Given the description of an element on the screen output the (x, y) to click on. 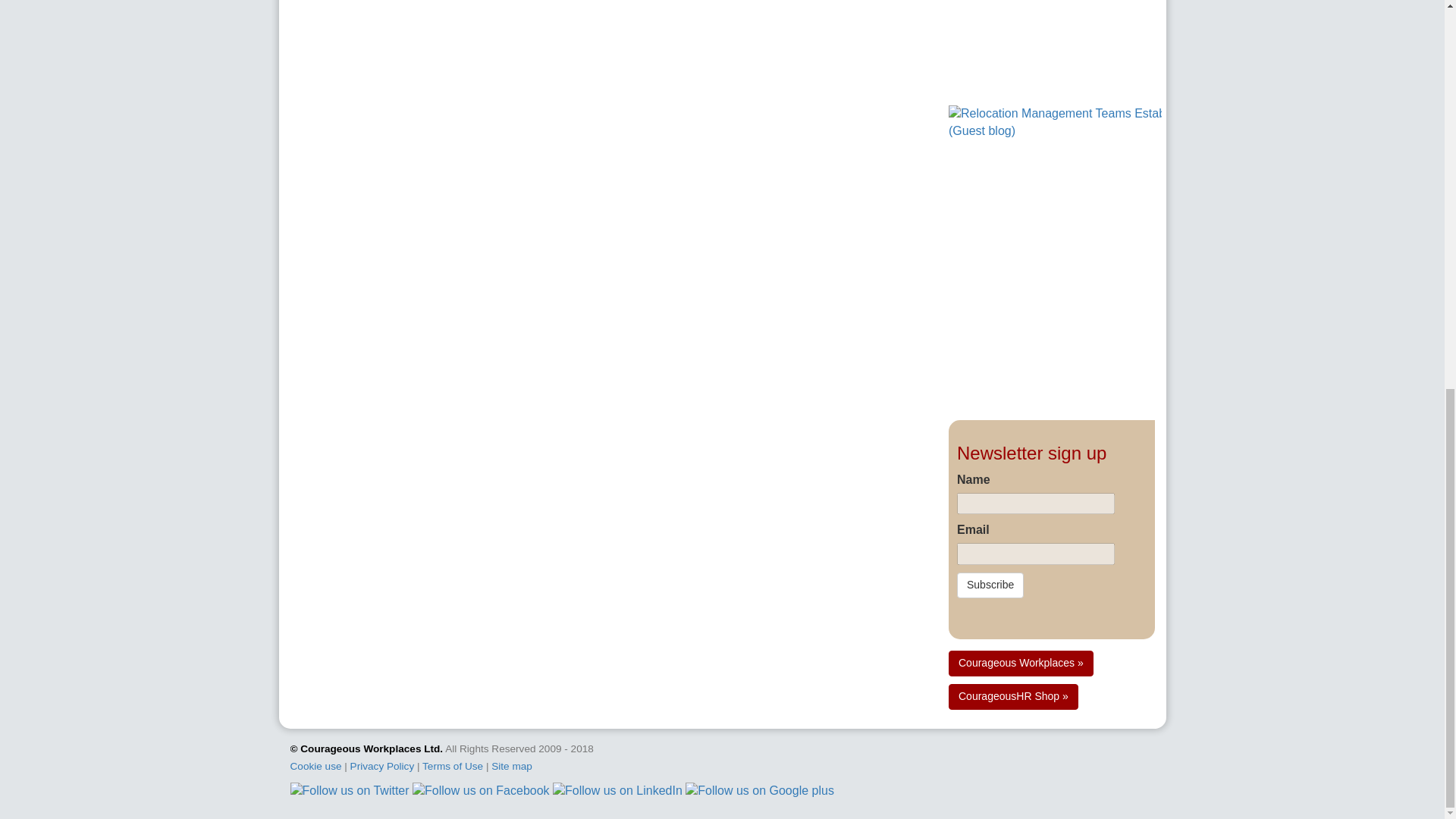
Terms of Use (452, 766)
Cookie use (314, 766)
Subscribe (989, 585)
Site map (512, 766)
Privacy Policy (382, 766)
